Given the description of an element on the screen output the (x, y) to click on. 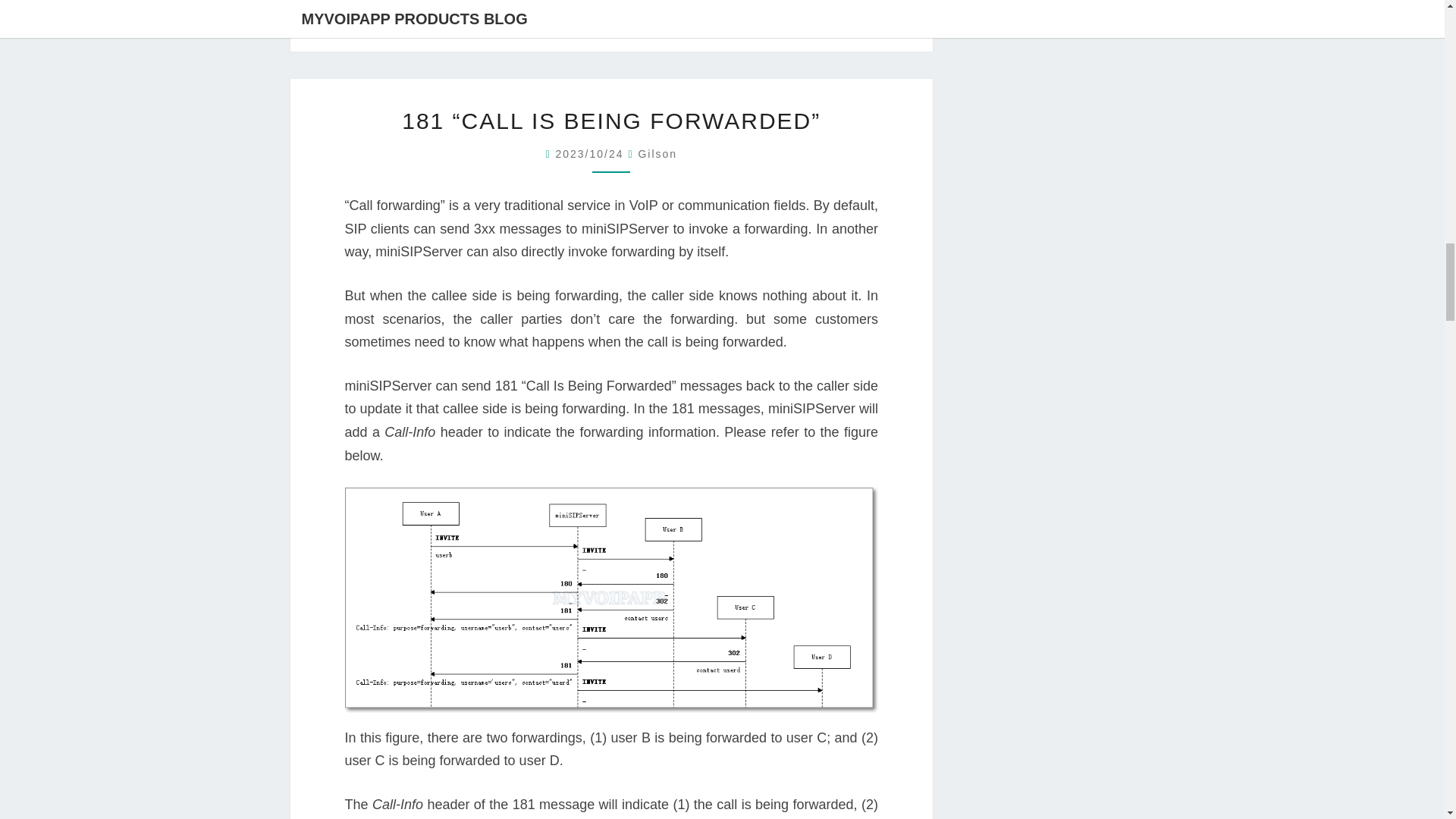
Gilson (657, 153)
View all posts by Gilson (657, 153)
8:58 AM (590, 153)
